Given the description of an element on the screen output the (x, y) to click on. 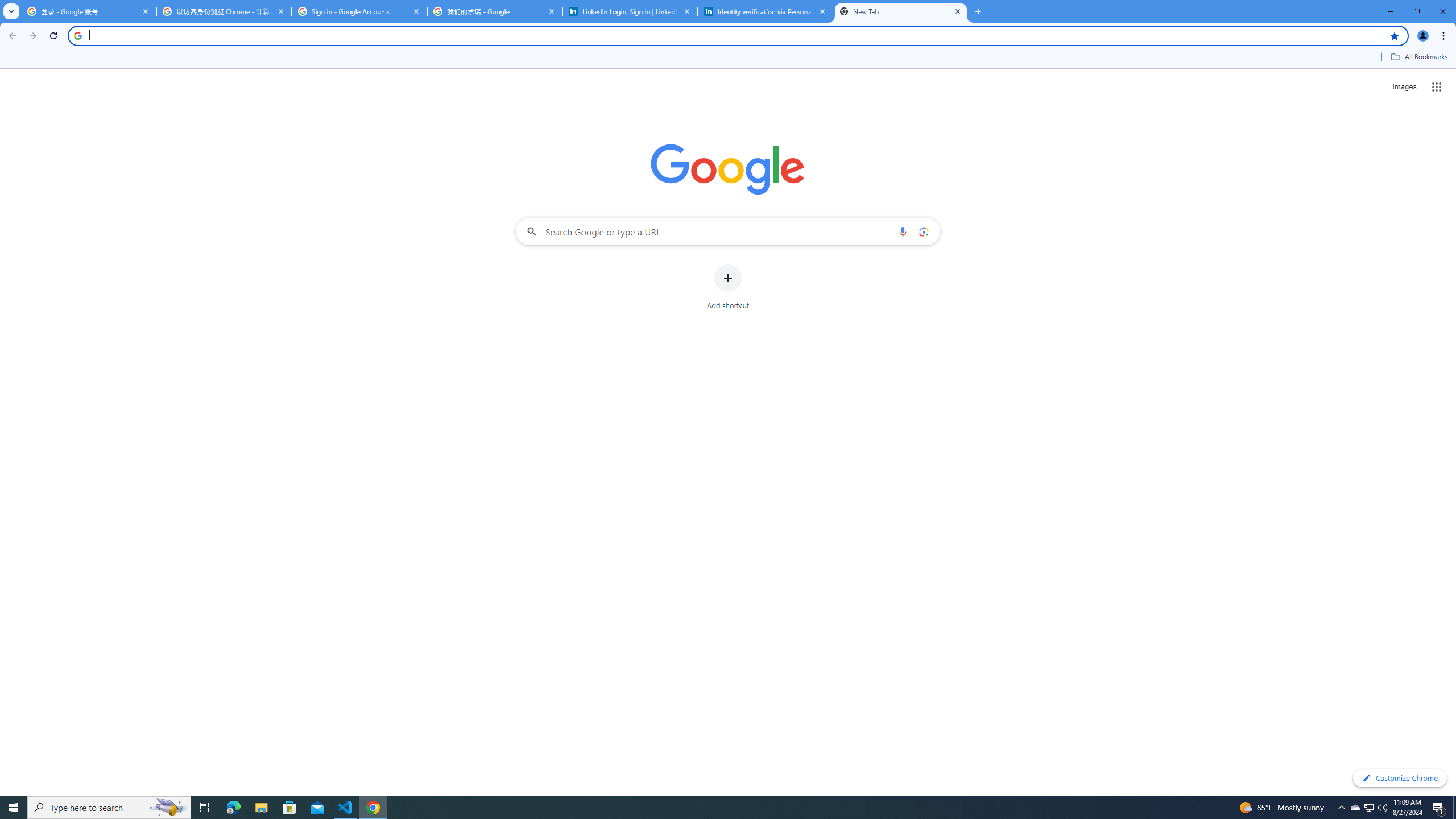
Restore (1416, 11)
Search for Images  (1403, 87)
